Given the description of an element on the screen output the (x, y) to click on. 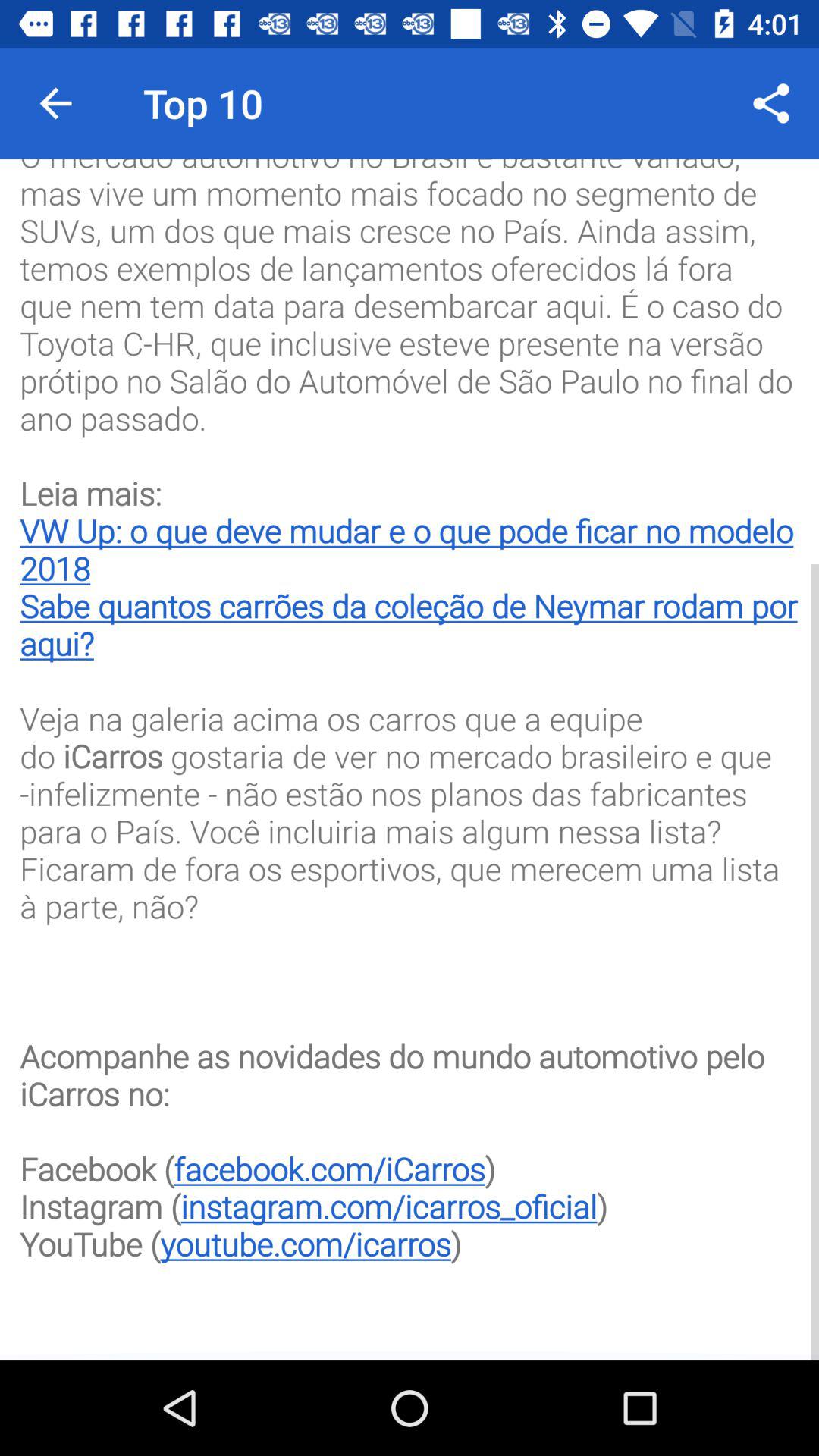
choose icon next to top 10 (55, 103)
